Given the description of an element on the screen output the (x, y) to click on. 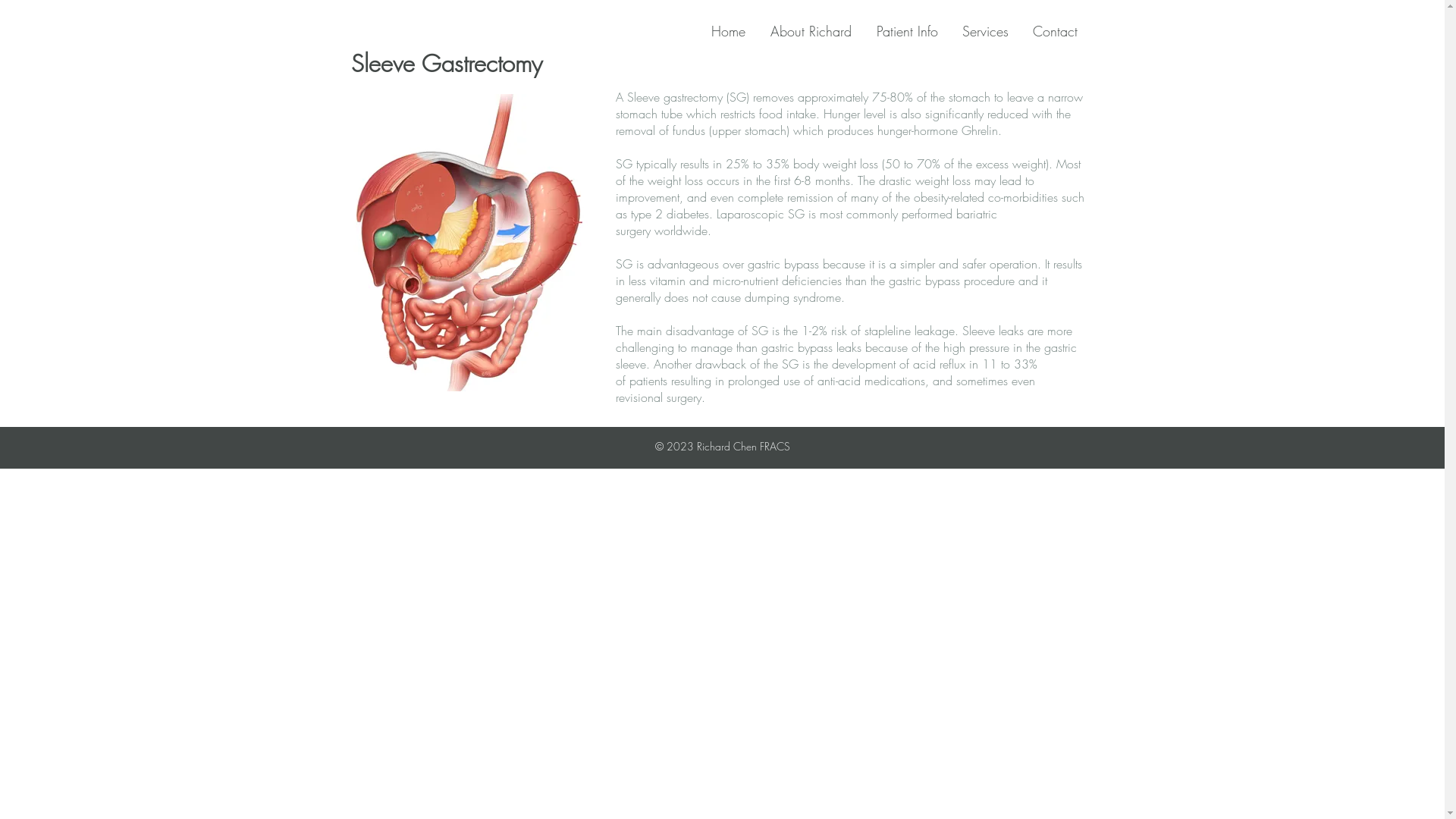
About Richard Element type: text (815, 31)
Services Element type: text (988, 31)
Patient Info Element type: text (911, 31)
Contact Element type: text (1059, 31)
Home Element type: text (732, 31)
